Given the description of an element on the screen output the (x, y) to click on. 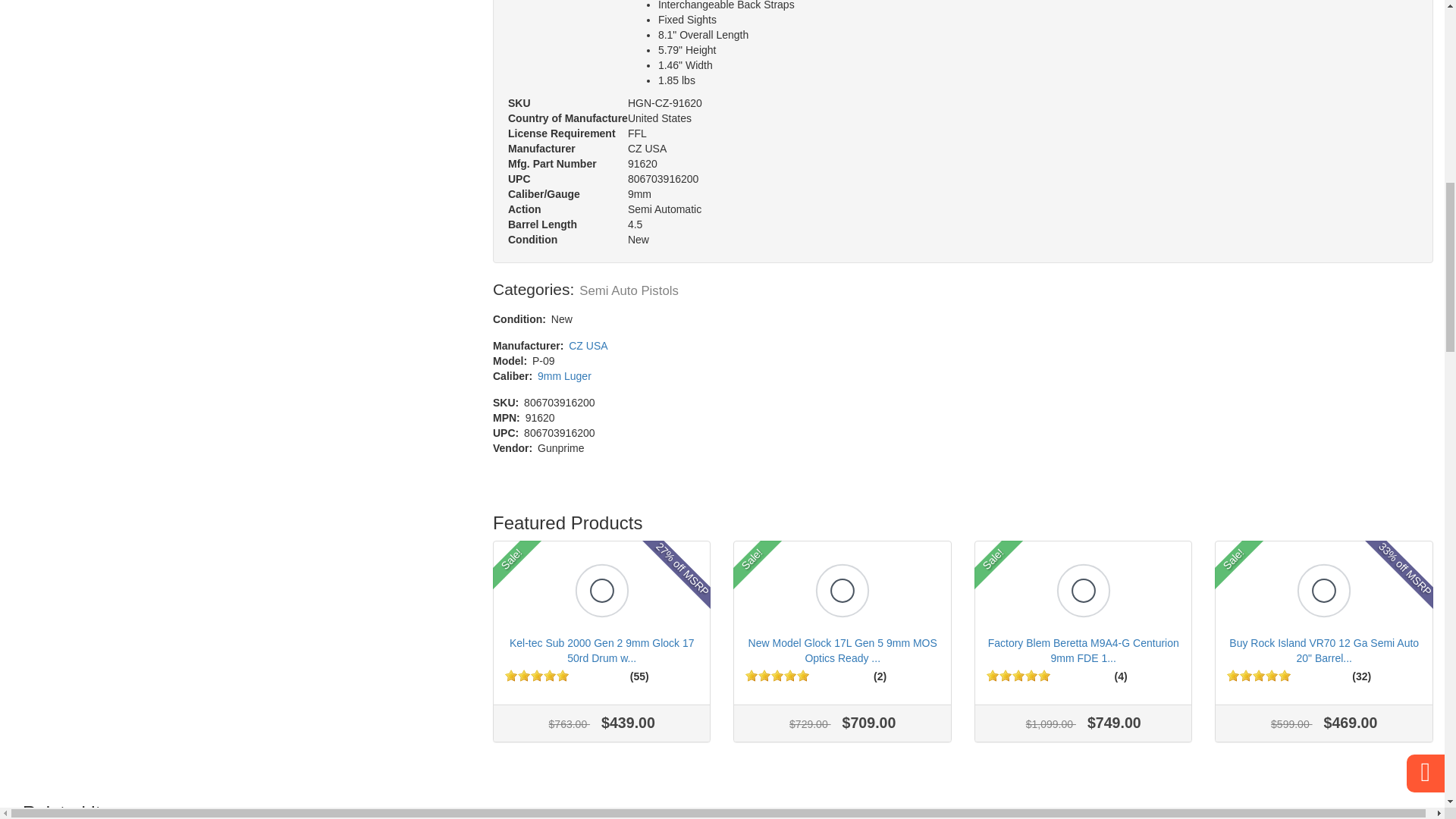
2 stars (764, 675)
2 stars (523, 675)
1 stars (510, 675)
5 stars (562, 675)
3 stars (537, 675)
4 stars (549, 675)
1 stars (751, 675)
